Given the description of an element on the screen output the (x, y) to click on. 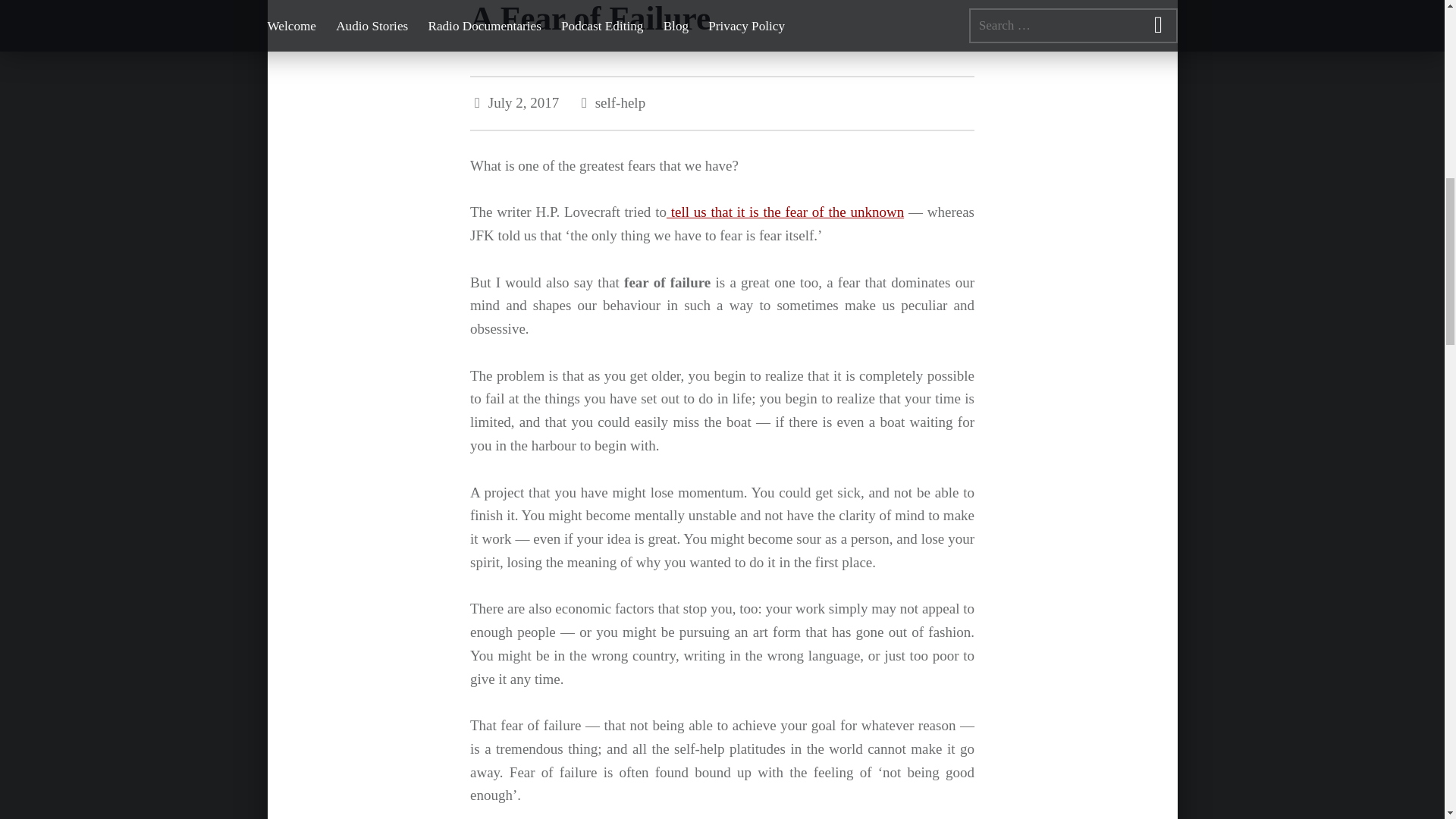
self-help (620, 102)
Posted on: July 2, 2017 (524, 102)
July 2, 2017 (524, 102)
tell us that it is the fear of the unknown (785, 211)
